Given the description of an element on the screen output the (x, y) to click on. 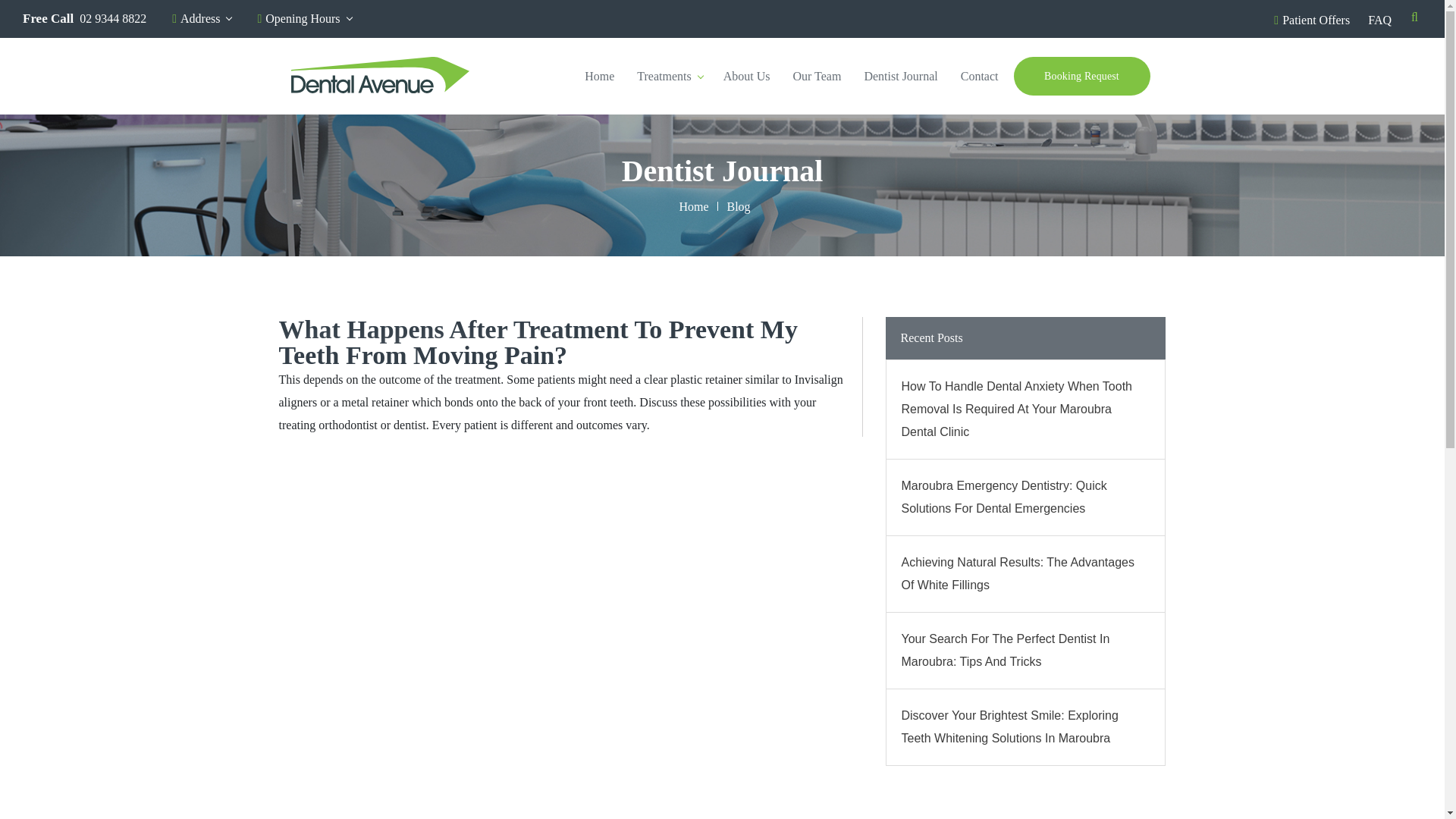
Dental promotions (1311, 20)
Frequently Asked Questions (1379, 20)
Dentist Journal (900, 75)
Achieving Natural Results: The Advantages Of White Fillings (1024, 573)
FAQ (1379, 20)
Treatments (667, 75)
02 9344 8822 (113, 23)
Opening Hours (303, 23)
Contact (979, 75)
Booking Request (1081, 75)
Blog (737, 206)
About Us (746, 75)
Our Team (817, 75)
Home (598, 75)
